Given the description of an element on the screen output the (x, y) to click on. 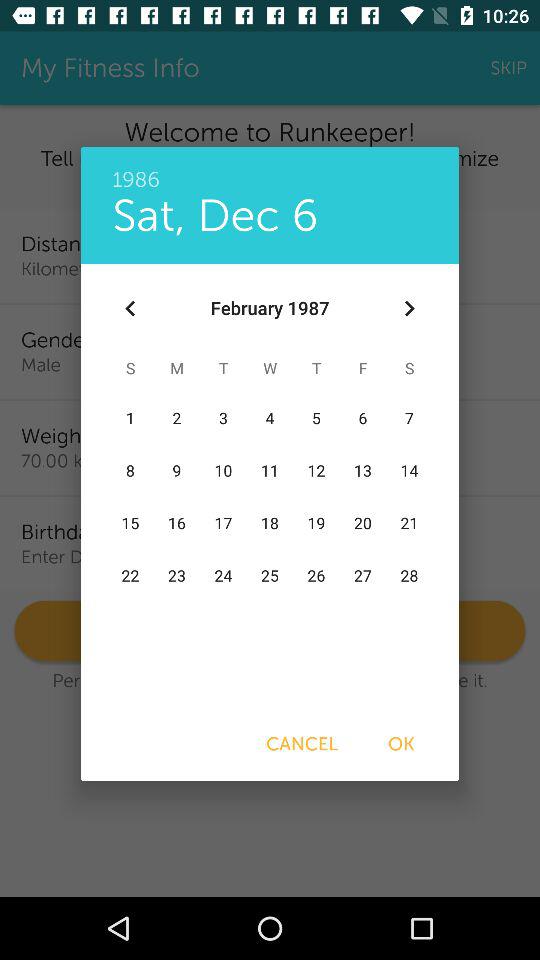
press the item above the ok icon (408, 308)
